Given the description of an element on the screen output the (x, y) to click on. 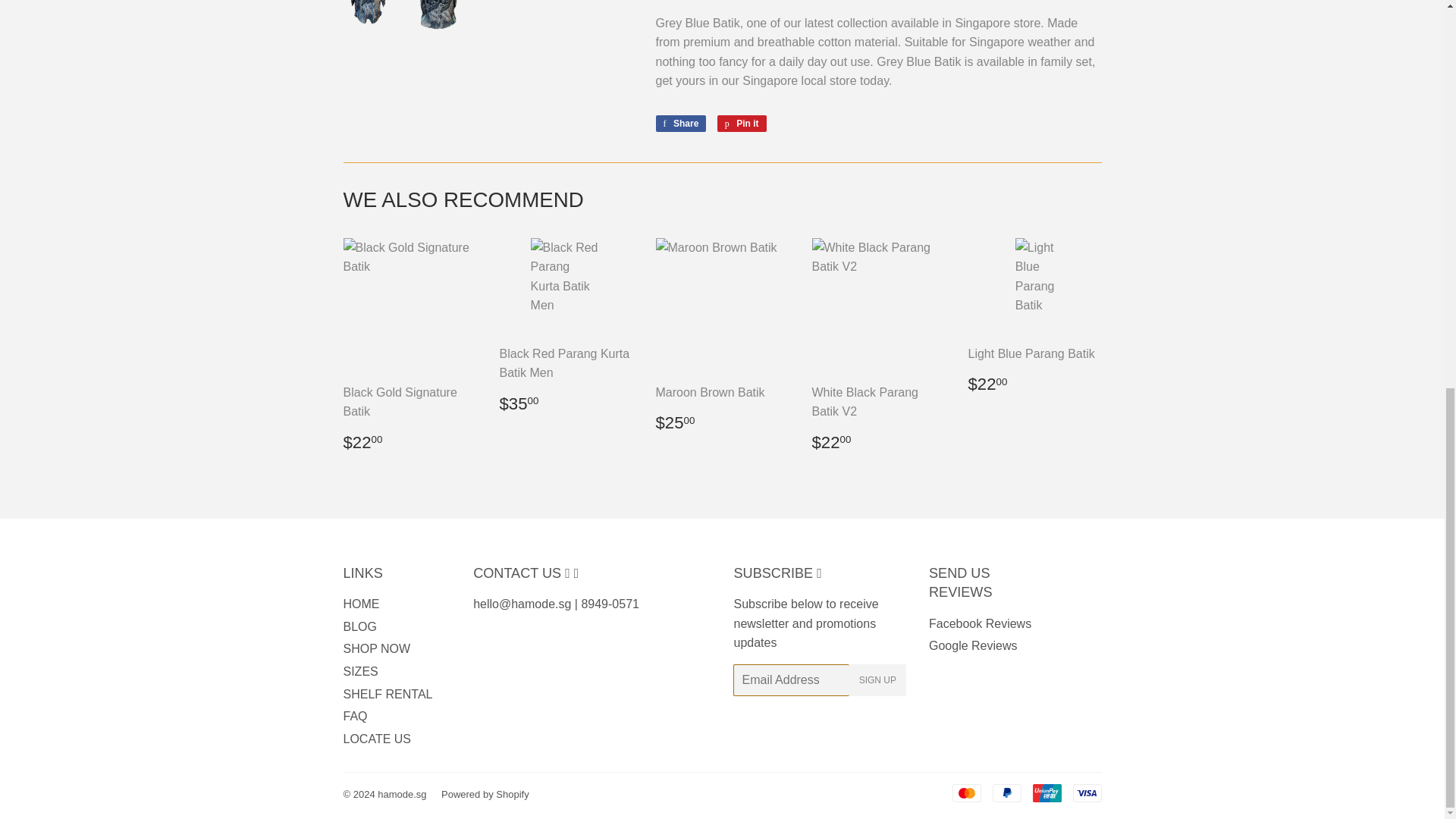
Share on Facebook (742, 123)
Pin on Pinterest (680, 123)
PayPal (742, 123)
Mastercard (1005, 792)
Union Pay (966, 792)
Visa (1046, 792)
